Given the description of an element on the screen output the (x, y) to click on. 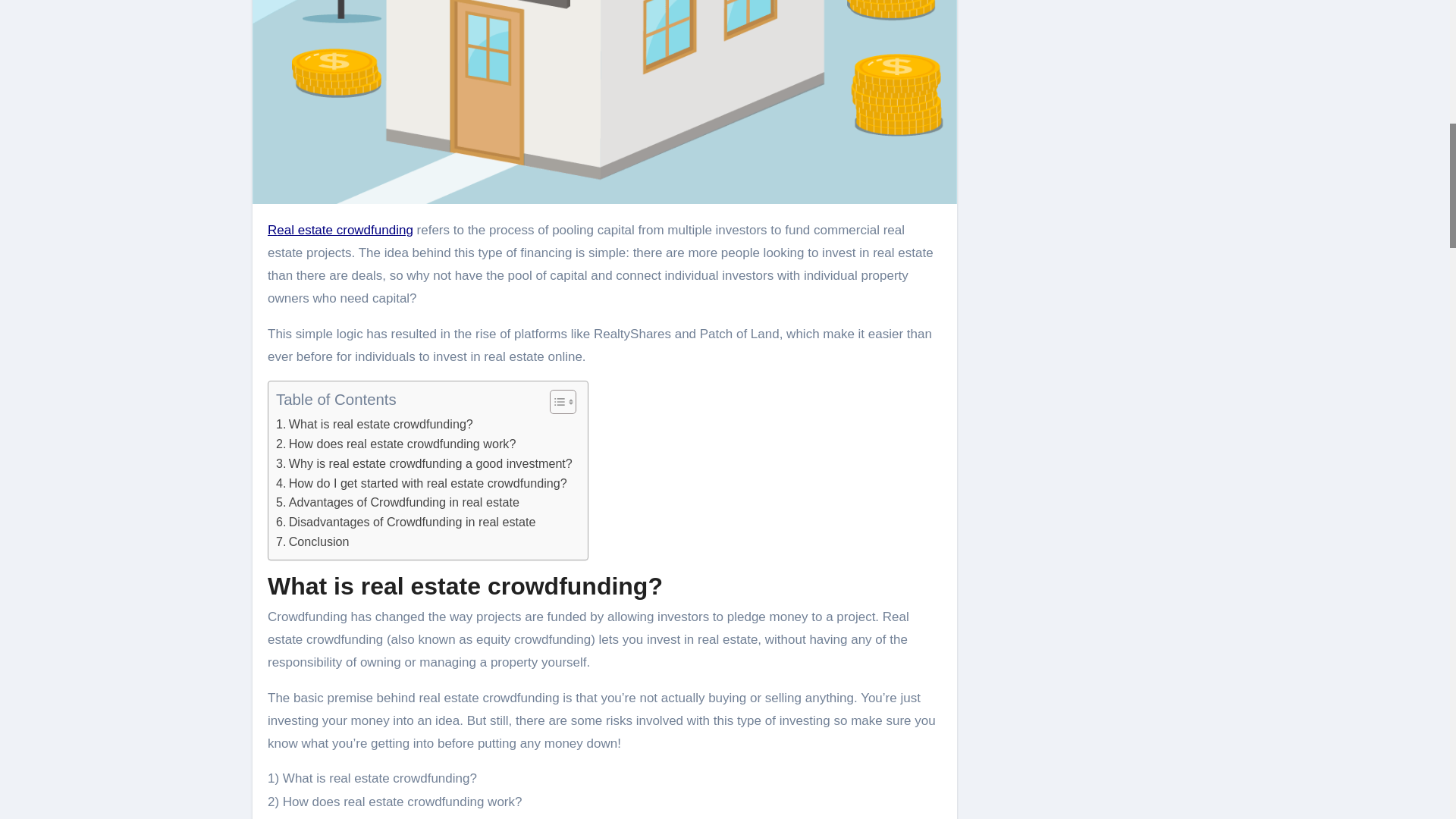
What is real estate crowdfunding? (374, 424)
Why is real estate crowdfunding a good investment? (424, 464)
Conclusion (312, 542)
How does real estate crowdfunding work? (395, 444)
What is real estate crowdfunding? (374, 424)
Real estate crowdfunding (340, 229)
Why is real estate crowdfunding a good investment? (424, 464)
How does real estate crowdfunding work? (395, 444)
Advantages of Crowdfunding in real estate (397, 502)
Disadvantages of Crowdfunding in real estate (405, 522)
How do I get started with real estate crowdfunding? (421, 483)
Advantages of Crowdfunding in real estate (397, 502)
Conclusion (312, 542)
Disadvantages of Crowdfunding in real estate (405, 522)
How do I get started with real estate crowdfunding? (421, 483)
